Given the description of an element on the screen output the (x, y) to click on. 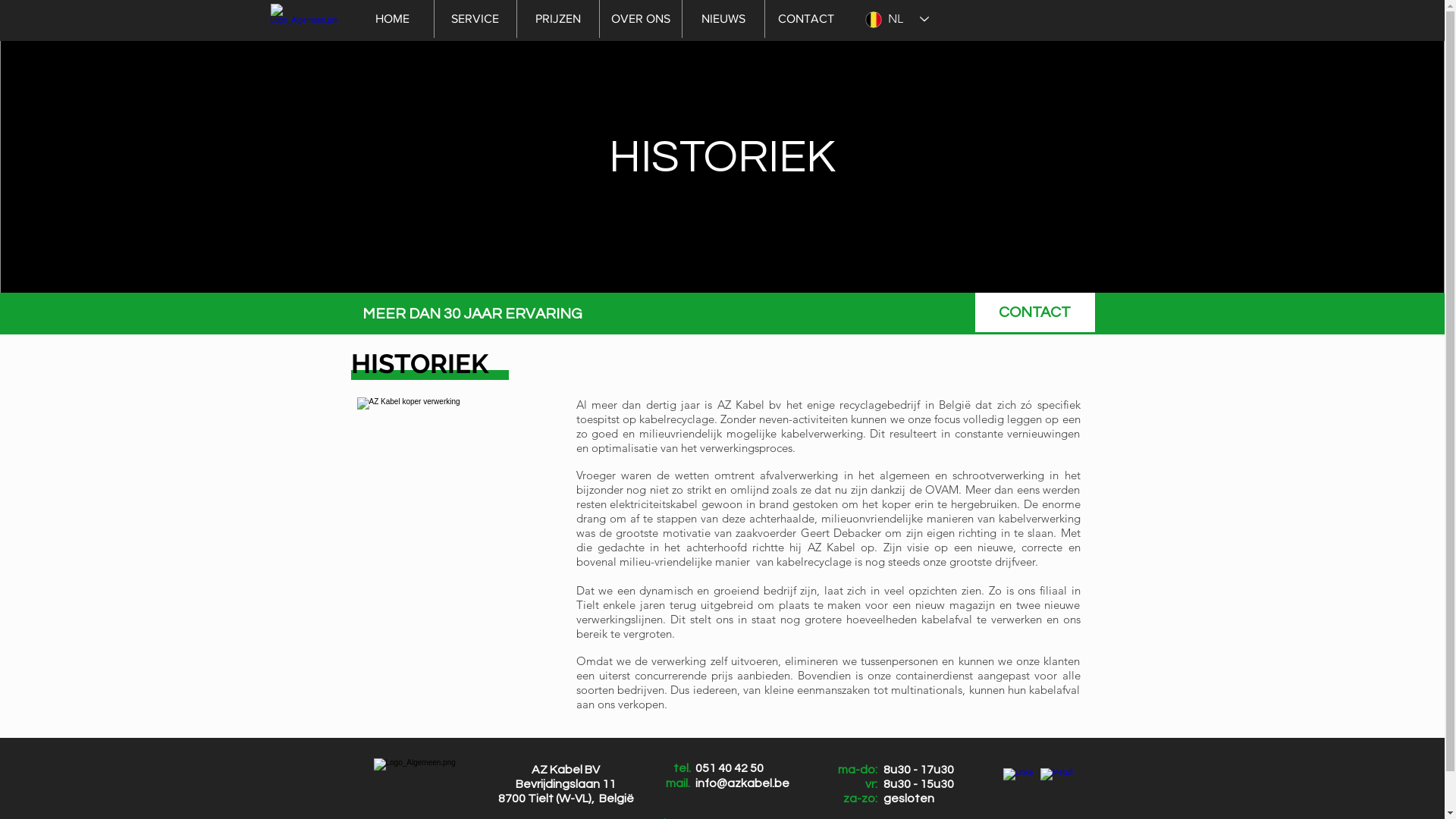
NIEUWS Element type: text (721, 18)
CONTACT Element type: text (1035, 312)
CONTACT Element type: text (805, 18)
Kopergranulaat Element type: hover (458, 545)
PRIJZEN Element type: text (556, 18)
info@azkabel.be Element type: text (741, 782)
HOME Element type: text (391, 18)
